Given the description of an element on the screen output the (x, y) to click on. 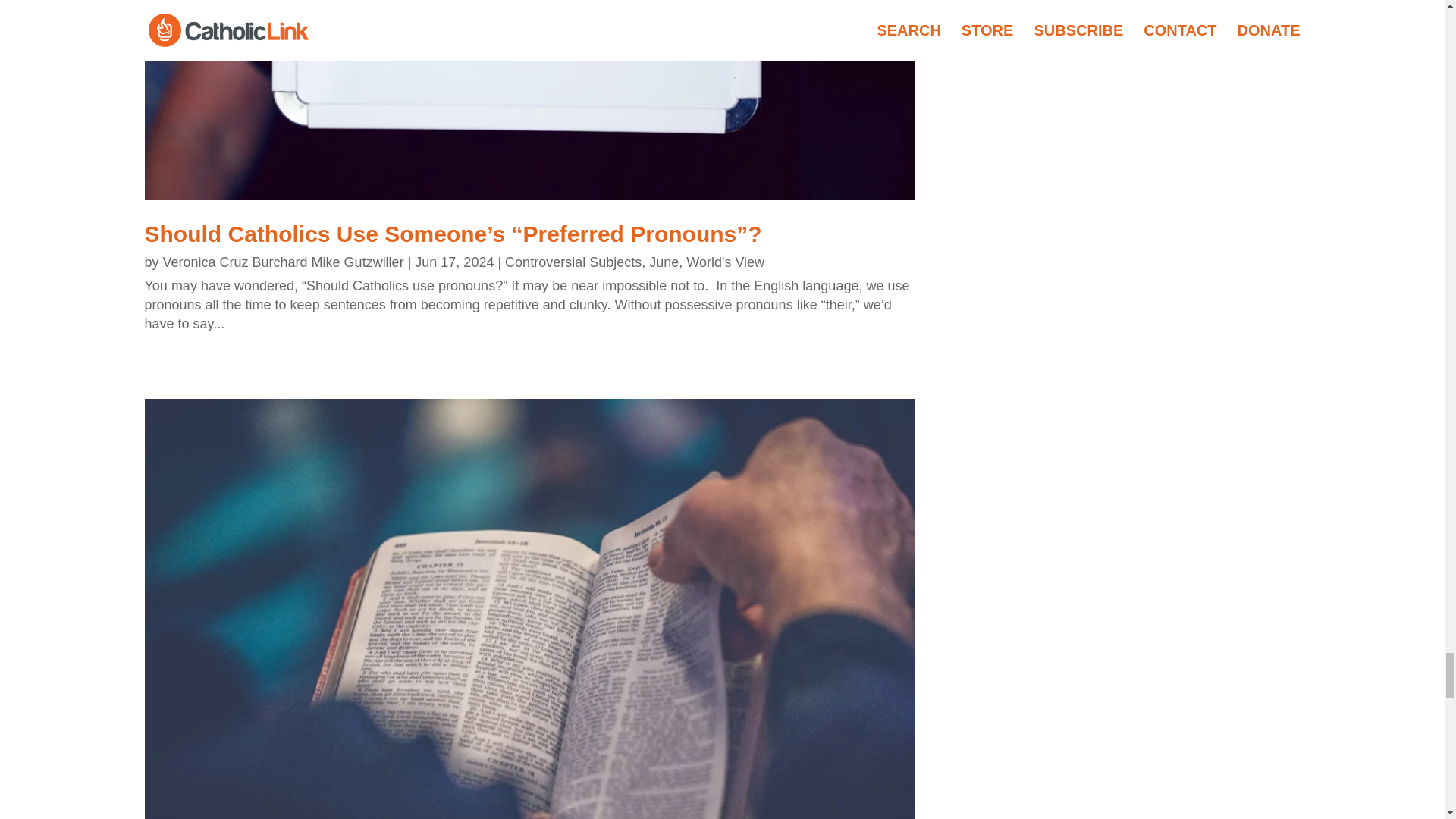
Posts by Veronica Cruz Burchard Mike Gutzwiller (283, 262)
